Given the description of an element on the screen output the (x, y) to click on. 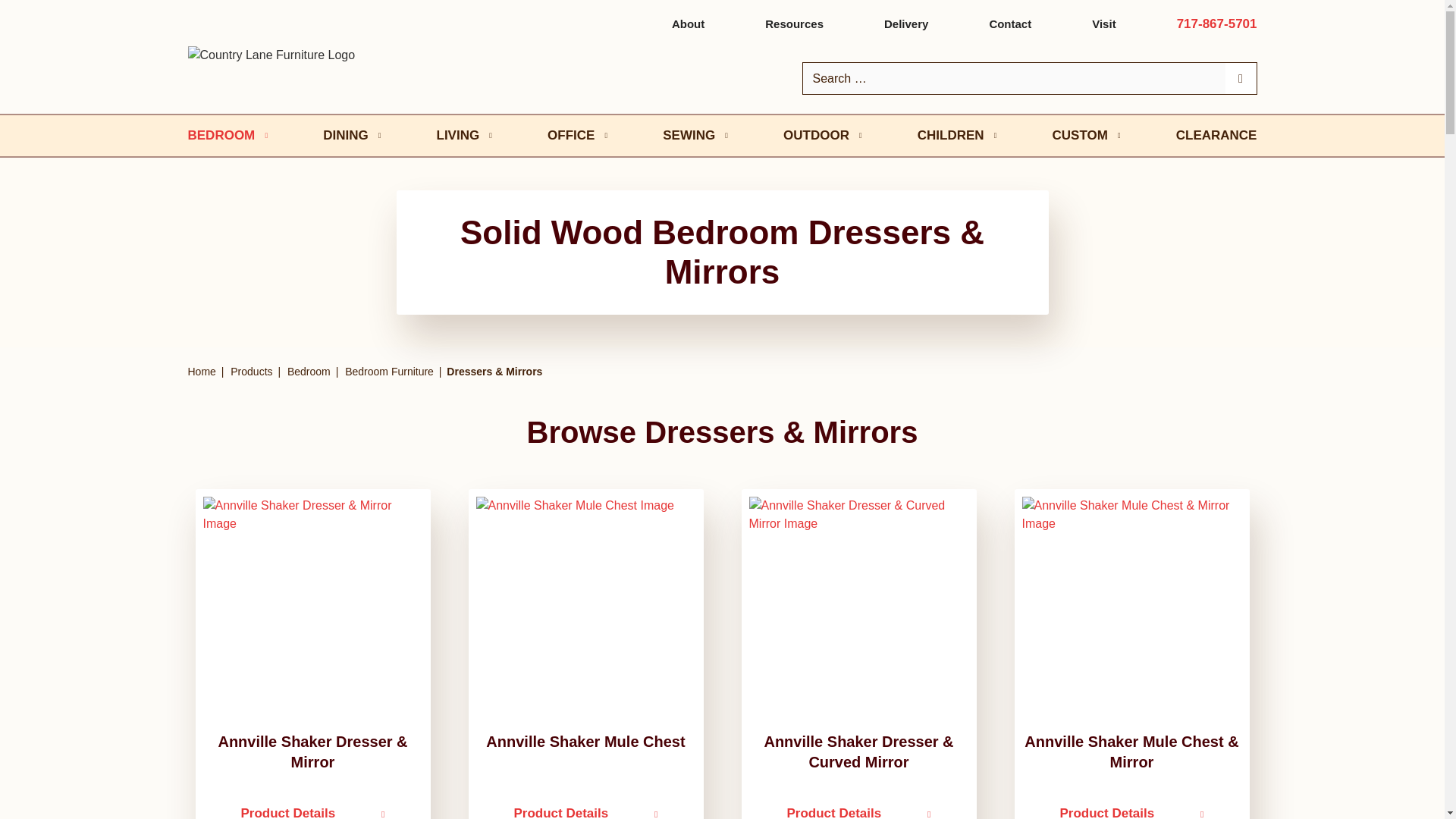
Search (15, 15)
Contact (1009, 23)
717-867-5701 (1216, 23)
Visit (1103, 23)
717-867-5701 (1216, 23)
About (687, 23)
DINING (353, 135)
Resources (794, 23)
Delivery (905, 23)
BEDROOM (228, 135)
Search for: (1013, 78)
